Given the description of an element on the screen output the (x, y) to click on. 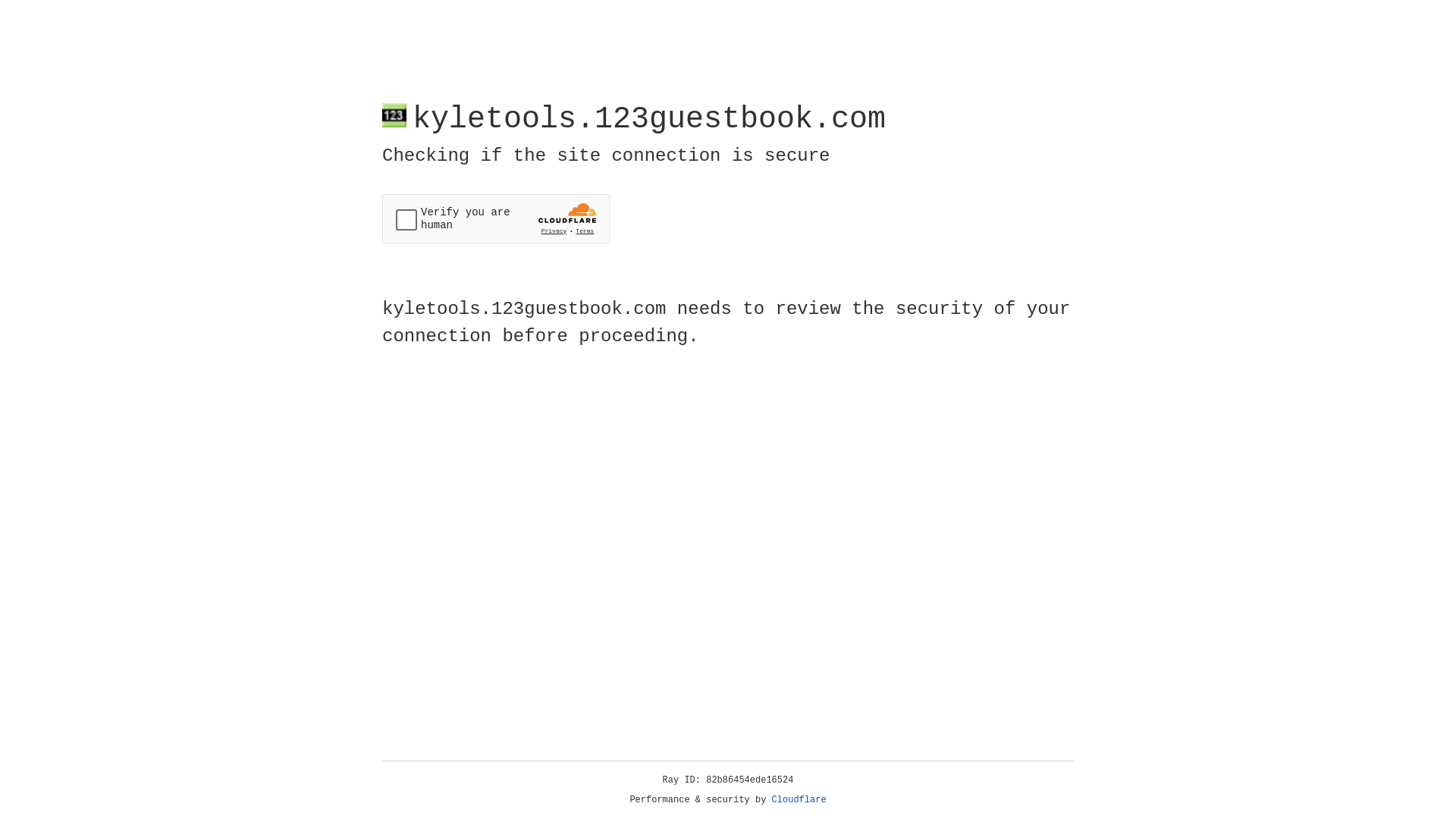
Widget containing a Cloudflare security challenge Element type: hover (495, 218)
Cloudflare Element type: text (798, 799)
